Given the description of an element on the screen output the (x, y) to click on. 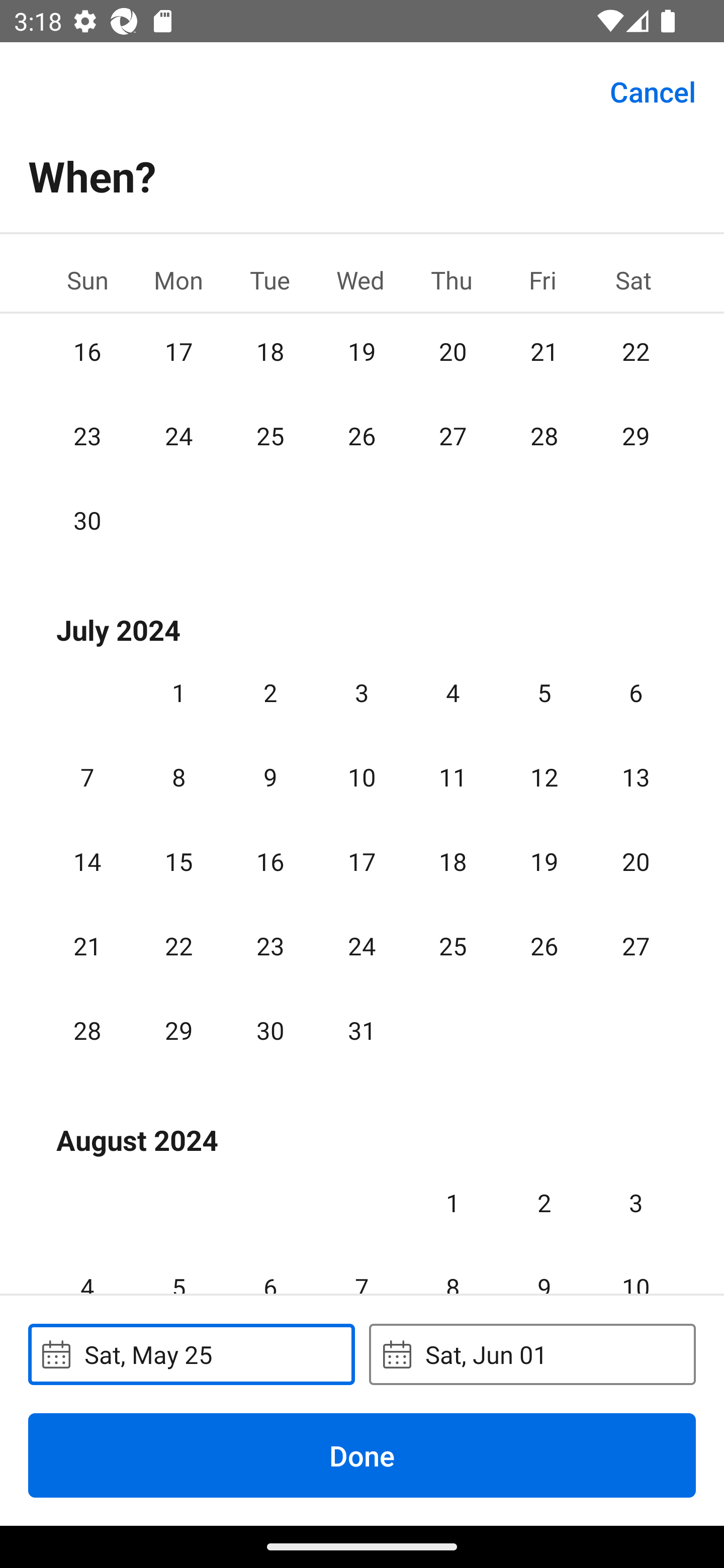
Cancel (652, 90)
Sat, May 25 (191, 1353)
Sat, Jun 01 (532, 1353)
Done (361, 1454)
